Given the description of an element on the screen output the (x, y) to click on. 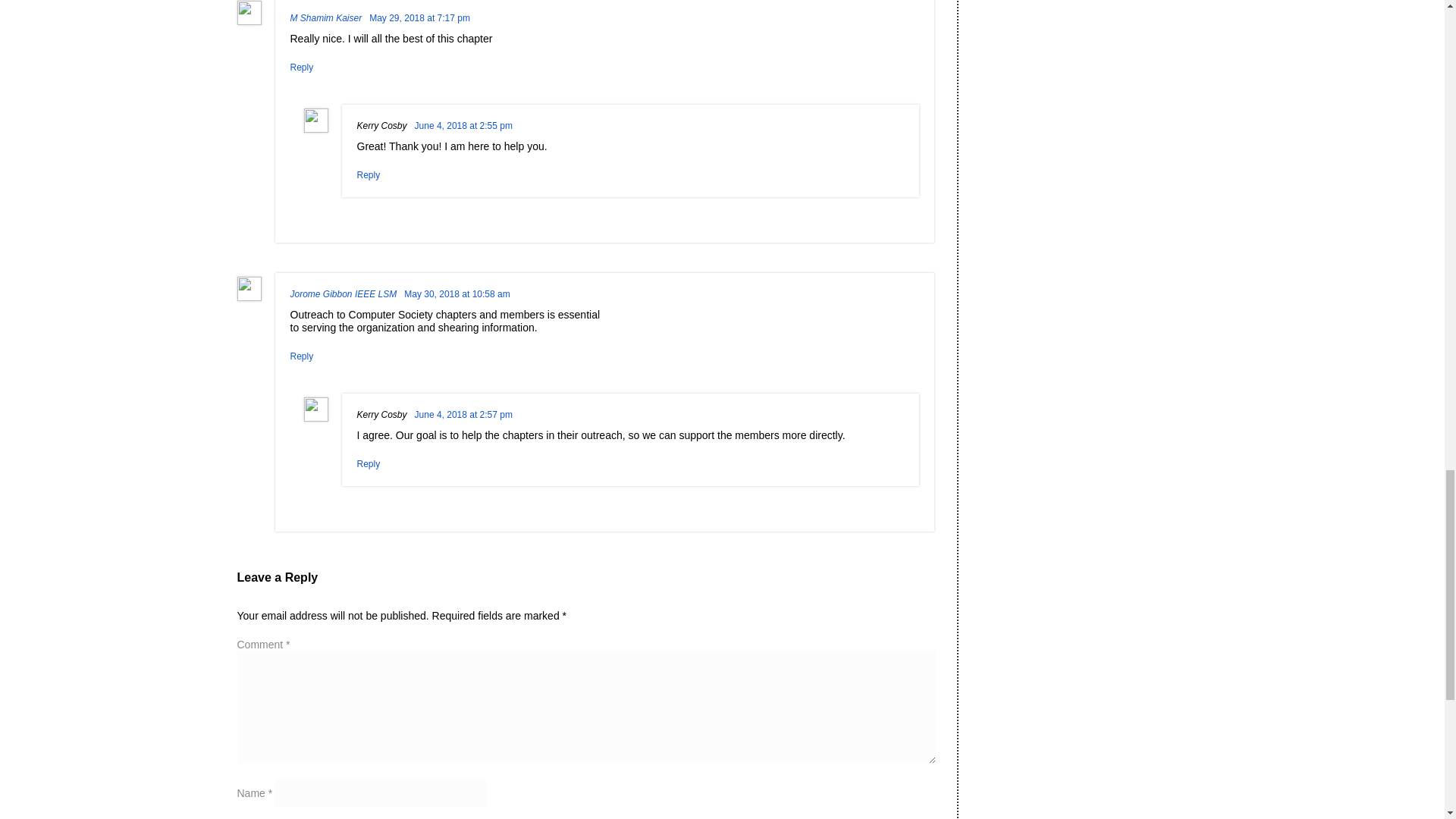
May 29, 2018 at 7:17 pm (419, 18)
Reply (301, 356)
June 4, 2018 at 2:55 pm (463, 125)
Jorome Gibbon IEEE LSM (342, 294)
M Shamim Kaiser (325, 18)
June 4, 2018 at 2:57 pm (463, 414)
Reply (301, 67)
Reply (368, 174)
May 30, 2018 at 10:58 am (456, 294)
Reply (368, 463)
